Given the description of an element on the screen output the (x, y) to click on. 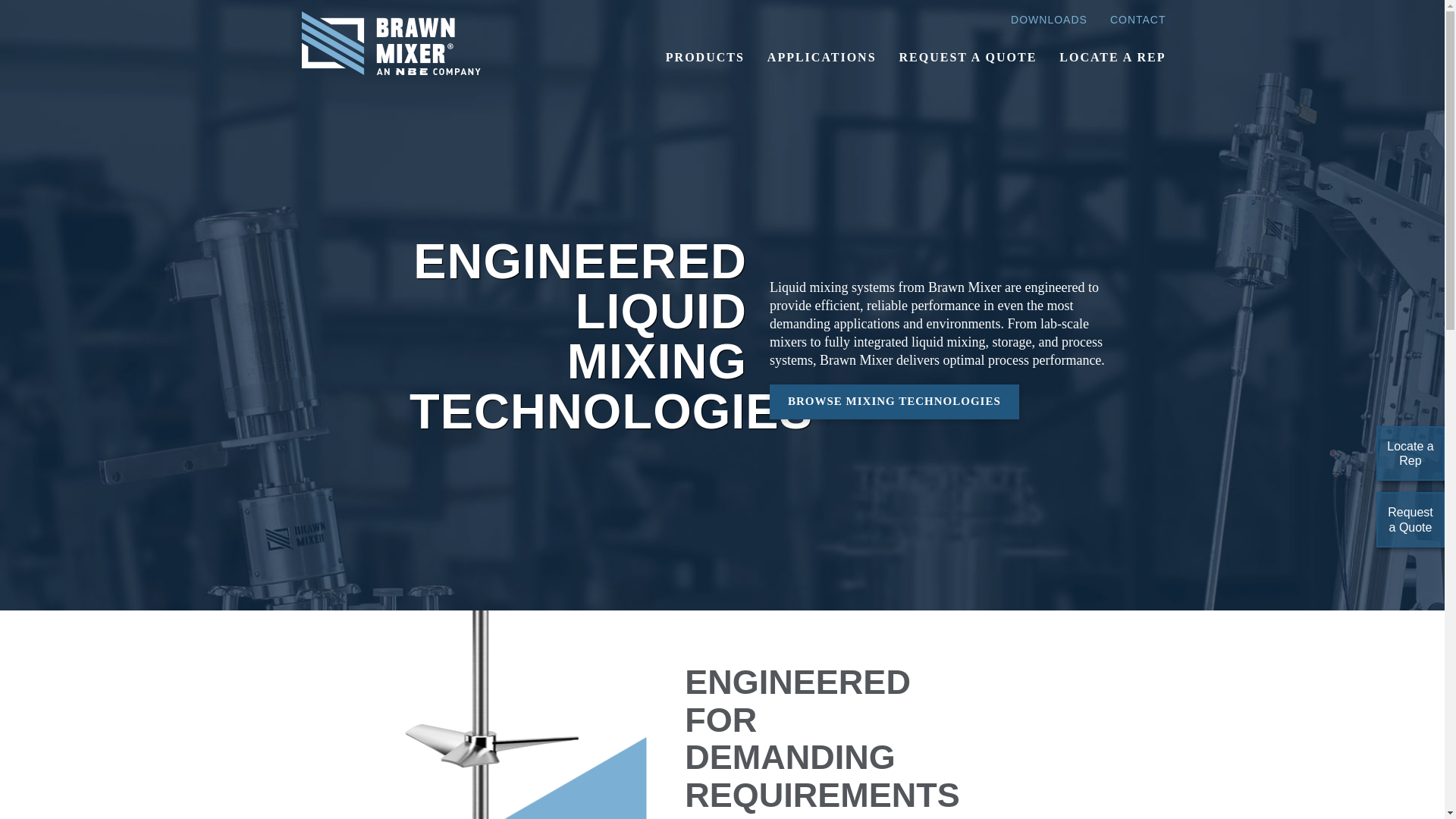
APPLICATIONS (821, 57)
BROWSE MIXING TECHNOLOGIES (894, 401)
PRODUCTS (704, 57)
DOWNLOADS (1048, 19)
LOCATE A REP (1112, 57)
CONTACT (1138, 19)
REQUEST A QUOTE (968, 57)
